Given the description of an element on the screen output the (x, y) to click on. 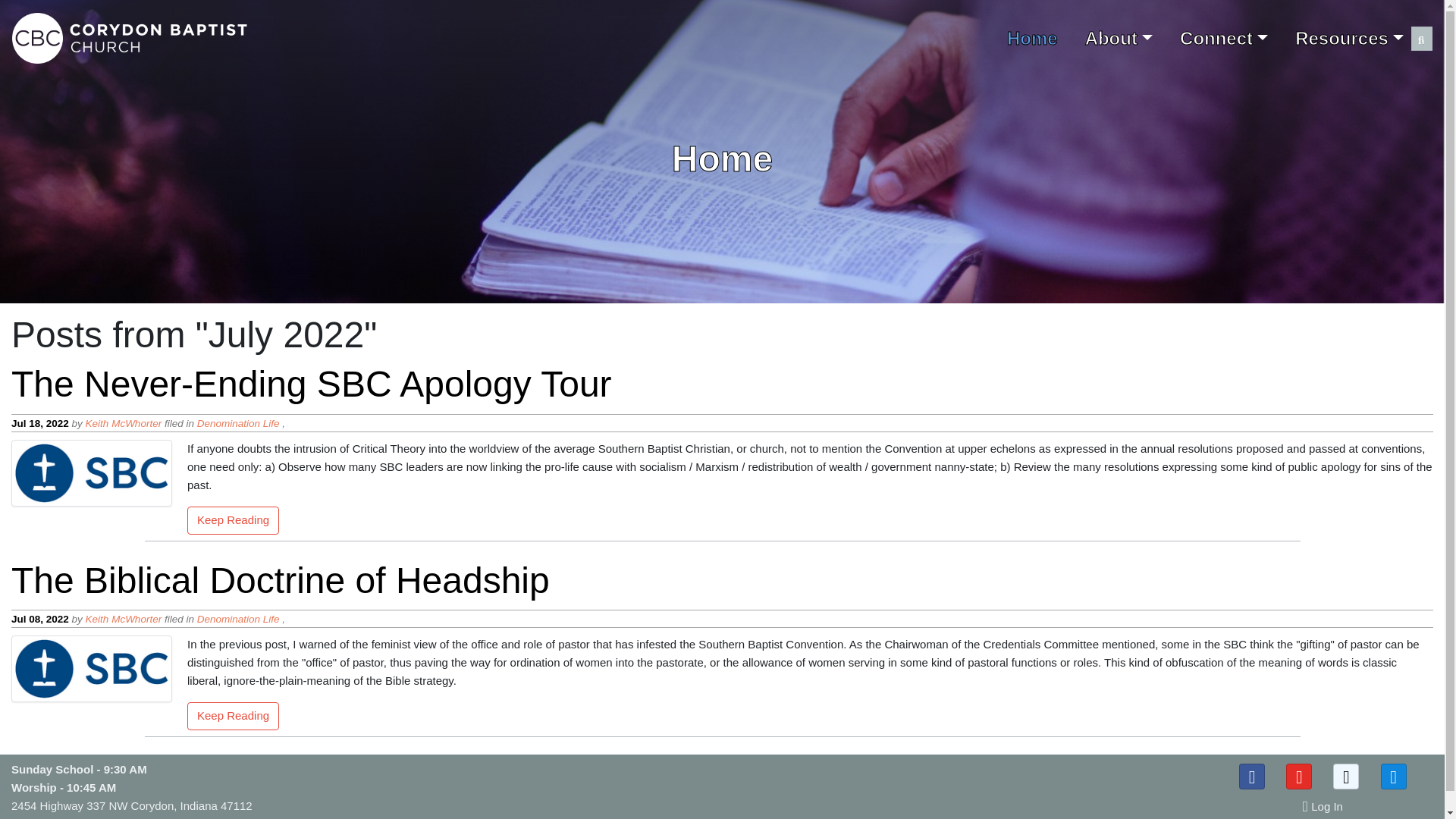
Connect (1223, 38)
Keep Reading (233, 521)
Resources (1348, 38)
Connect with CBC (1223, 38)
ExponentCMS (277, 818)
About (1118, 38)
Log In (1322, 808)
Denomination Life (237, 423)
Submit (1420, 40)
About Corydon Baptist Church (1118, 38)
Home (1032, 38)
Denomination Life (237, 618)
Resources from Corydon Baptist Church (1348, 38)
Keith McWhorter (123, 618)
Corydon Baptist Church Logo (129, 38)
